Given the description of an element on the screen output the (x, y) to click on. 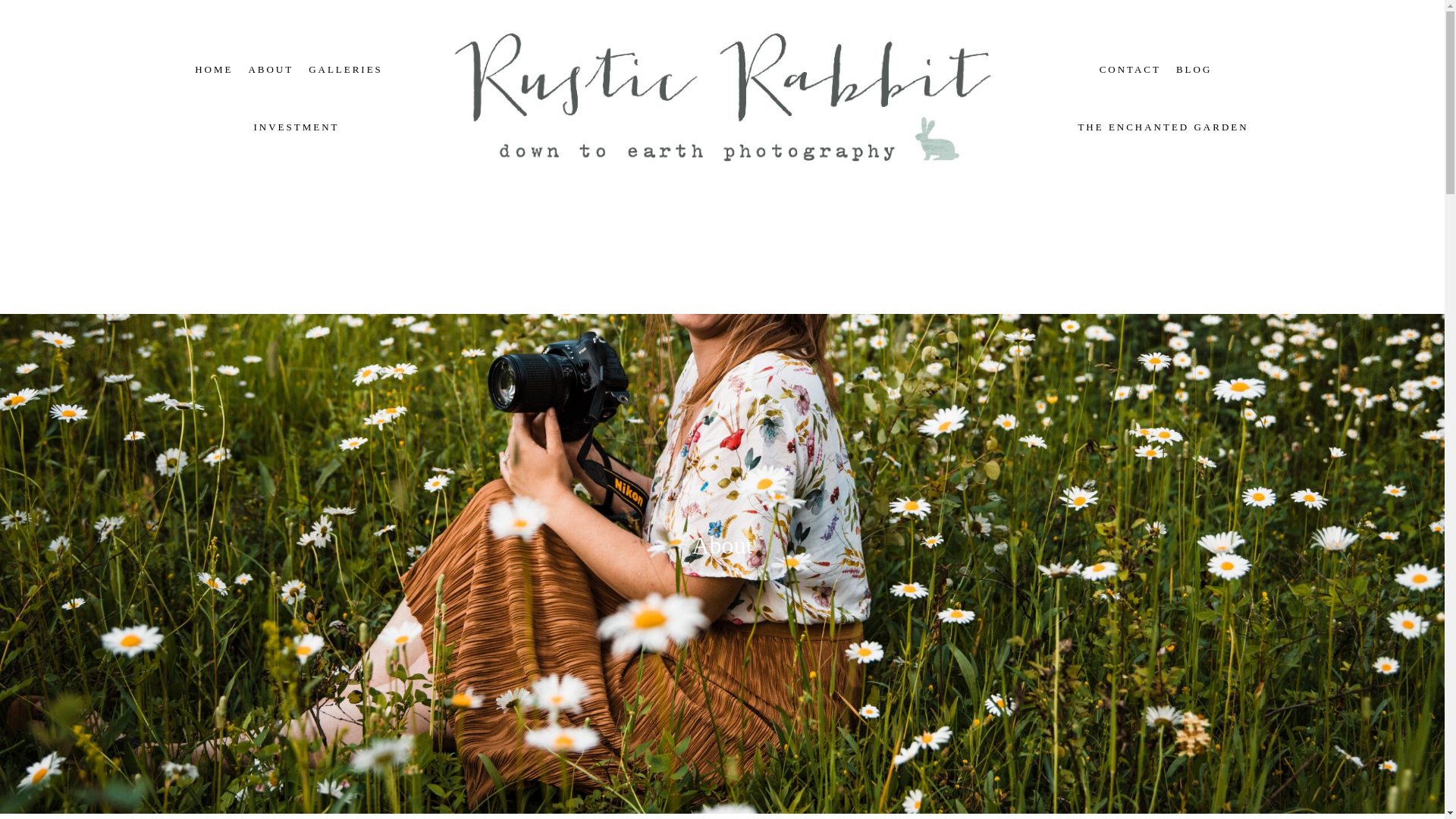
INVESTMENT (296, 126)
ABOUT (270, 69)
THE ENCHANTED GARDEN (1162, 126)
HOME (213, 69)
BLOG (1193, 69)
CONTACT (1129, 69)
GALLERIES (345, 69)
